Given the description of an element on the screen output the (x, y) to click on. 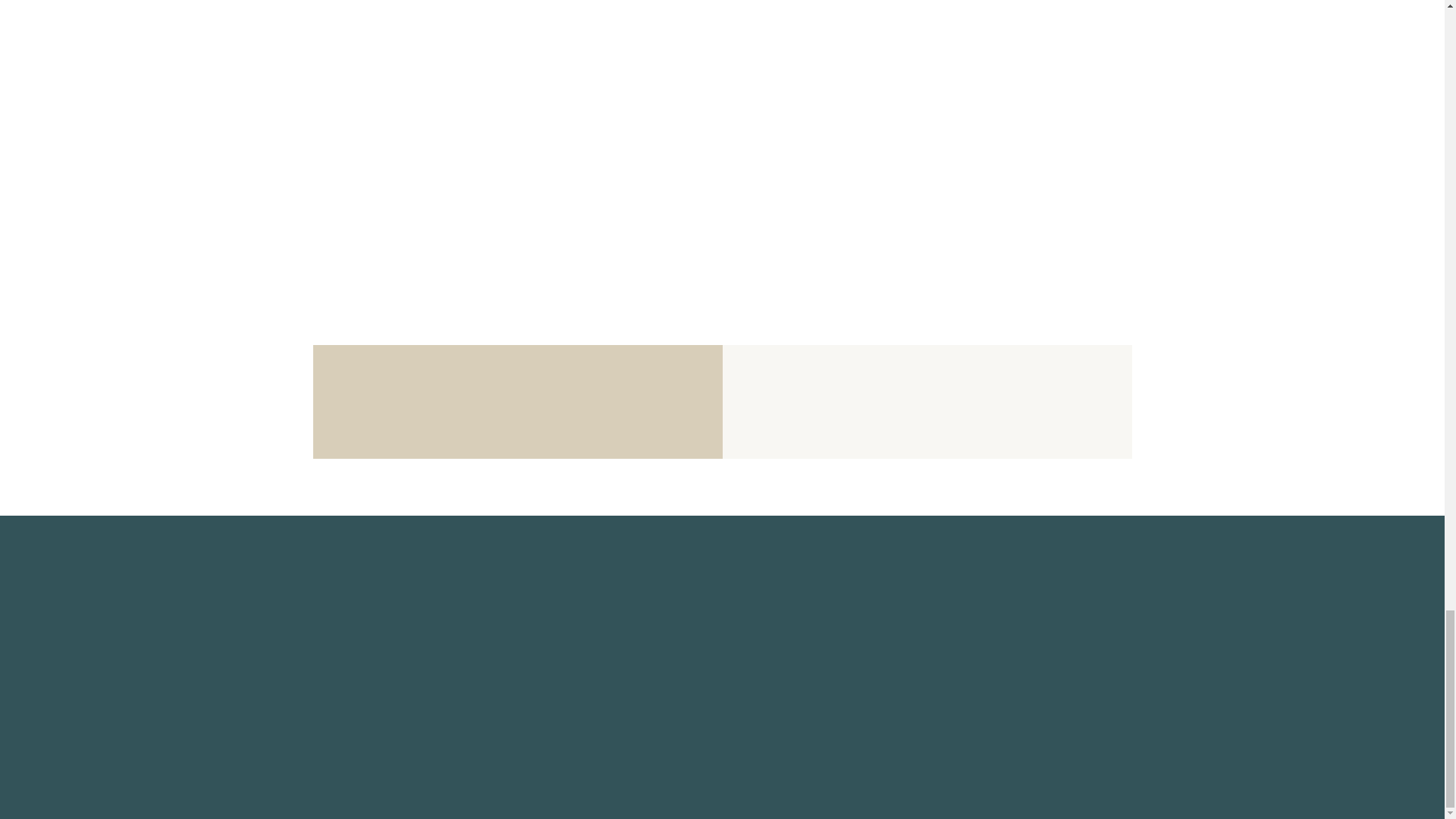
WE SUPPORT LOCALS (390, 673)
MEDIA (337, 586)
WORK (335, 695)
ABOUT MRWA (363, 564)
true (617, 483)
